Given the description of an element on the screen output the (x, y) to click on. 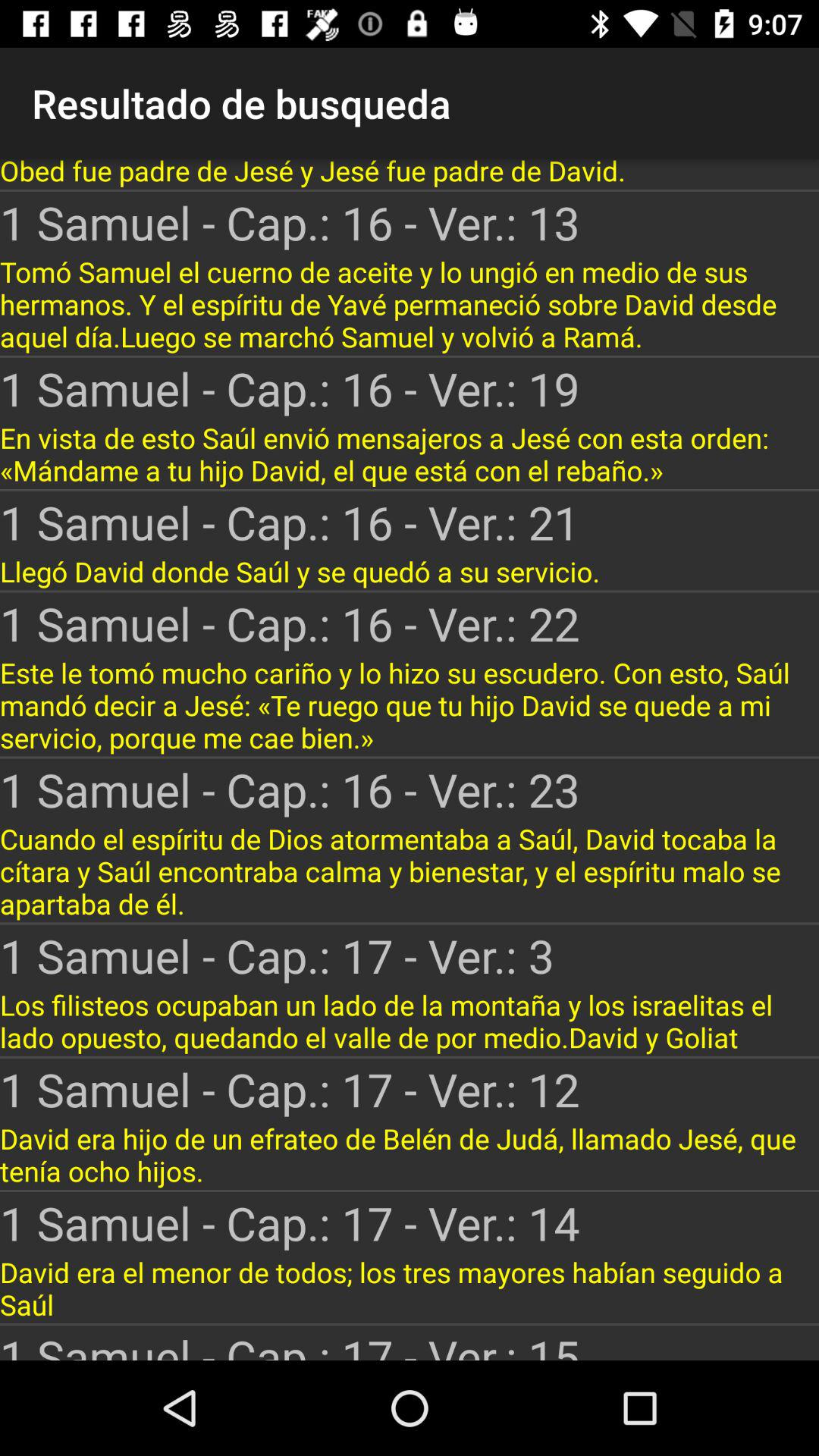
press app below 1 samuel cap item (409, 705)
